Given the description of an element on the screen output the (x, y) to click on. 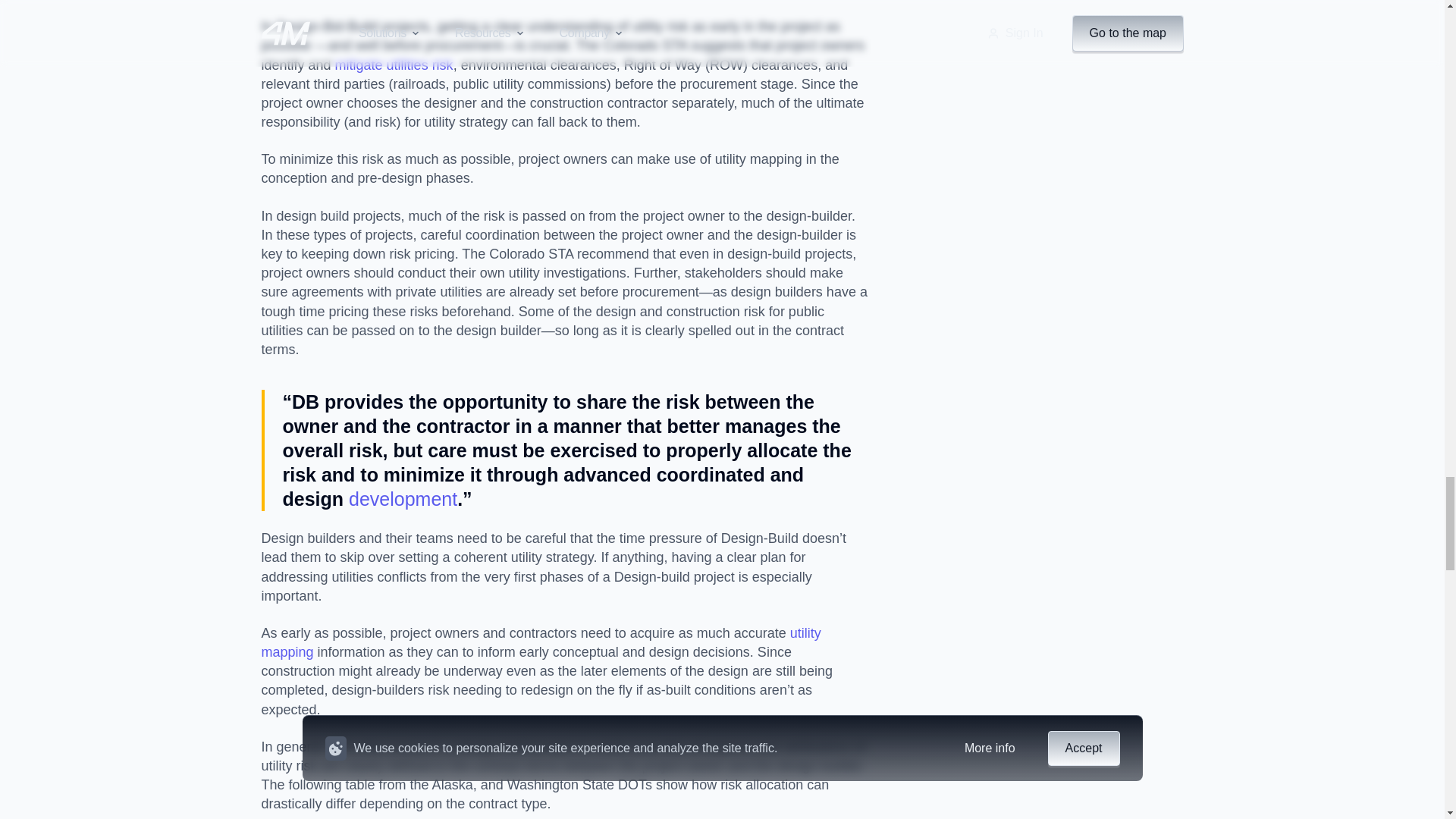
mitigate utilities risk (393, 64)
utility mapping (540, 642)
development (403, 498)
